Given the description of an element on the screen output the (x, y) to click on. 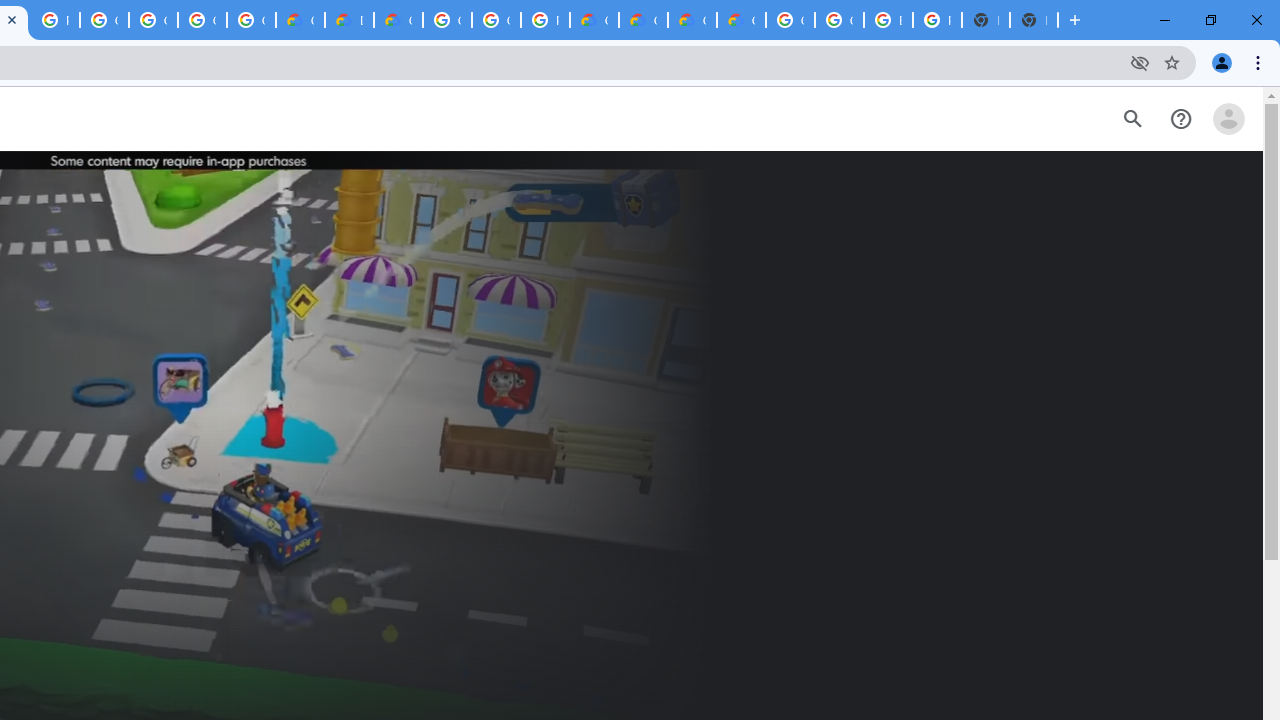
Google Cloud Platform (839, 20)
Third-party cookies blocked (1139, 62)
Google Cloud Service Health (740, 20)
Open account menu (1228, 119)
Google Cloud Platform (496, 20)
Google Workspace - Specific Terms (201, 20)
Google Workspace - Specific Terms (251, 20)
Google Cloud Platform (447, 20)
New Tab (1033, 20)
